Given the description of an element on the screen output the (x, y) to click on. 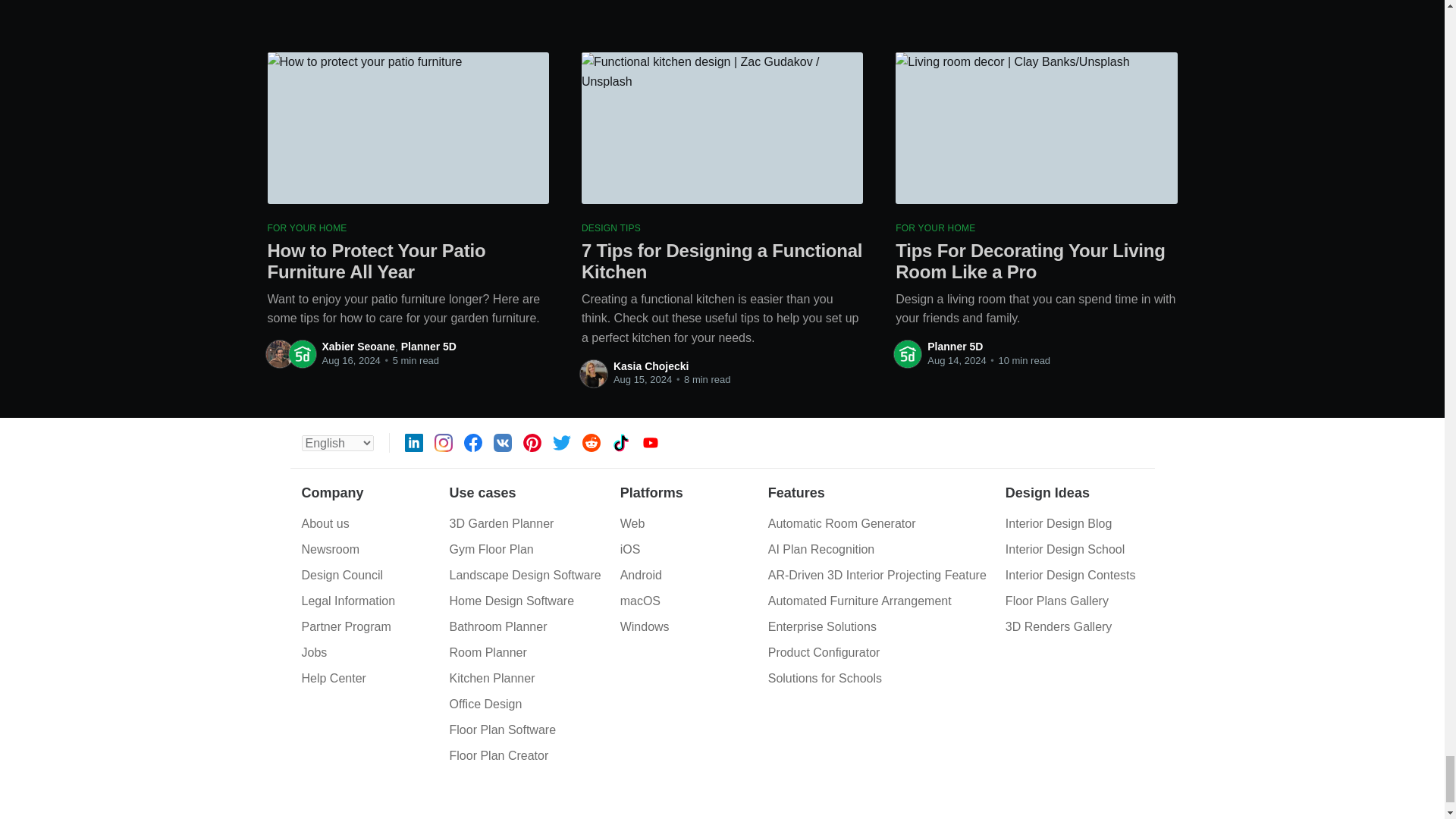
Xabier Seoane (357, 346)
Planner 5D (429, 346)
